Given the description of an element on the screen output the (x, y) to click on. 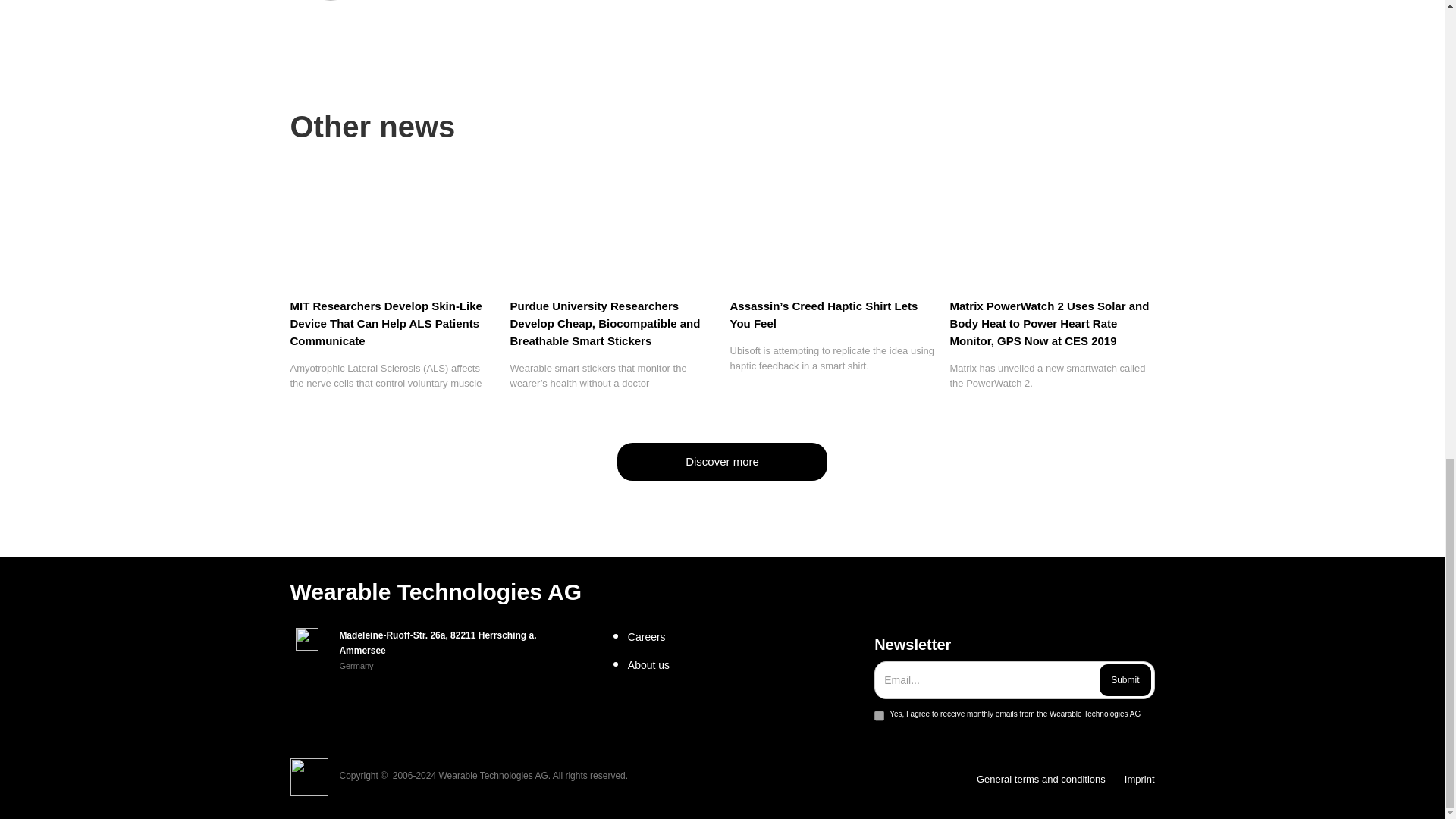
Submit (1124, 680)
Careers (744, 636)
About us (744, 664)
on (879, 715)
General terms and conditions (1040, 779)
Submit (1124, 680)
Discover more (722, 461)
Imprint (1139, 779)
